Given the description of an element on the screen output the (x, y) to click on. 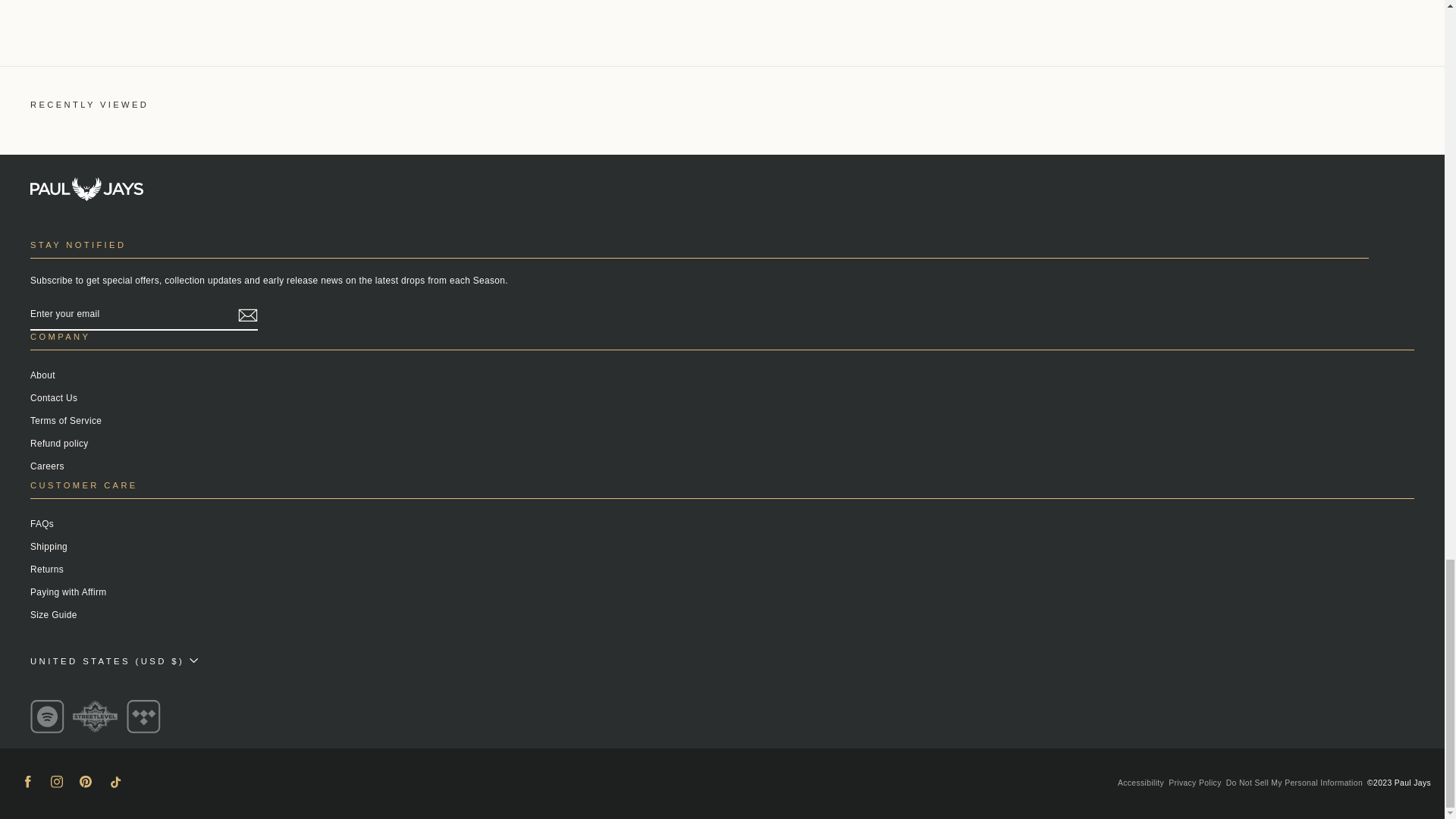
Instagram (56, 781)
Pinterest (85, 781)
Facebook (27, 781)
Tiktok (113, 781)
